Given the description of an element on the screen output the (x, y) to click on. 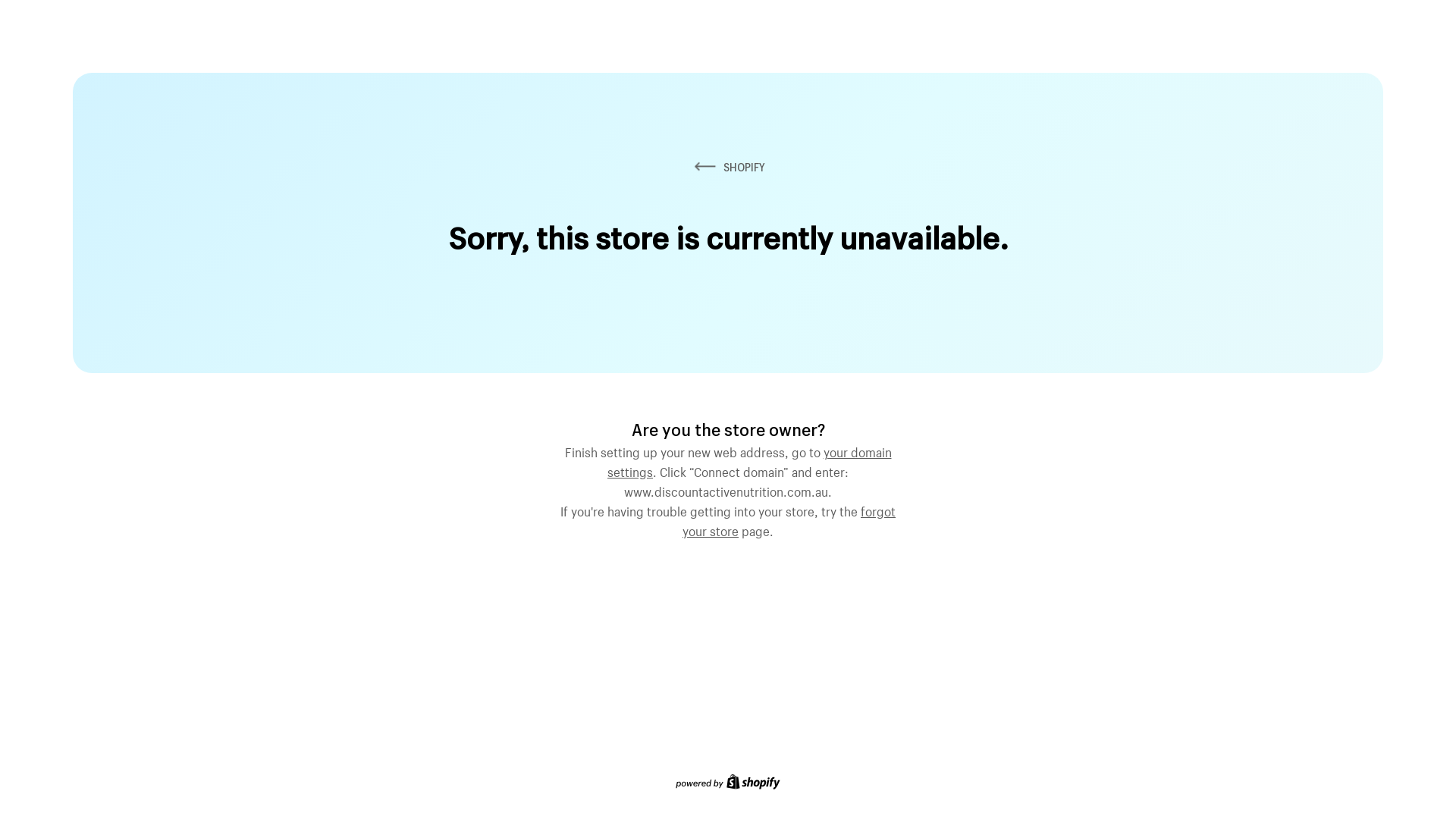
forgot your store Element type: text (788, 519)
your domain settings Element type: text (749, 460)
SHOPIFY Element type: text (727, 167)
